Given the description of an element on the screen output the (x, y) to click on. 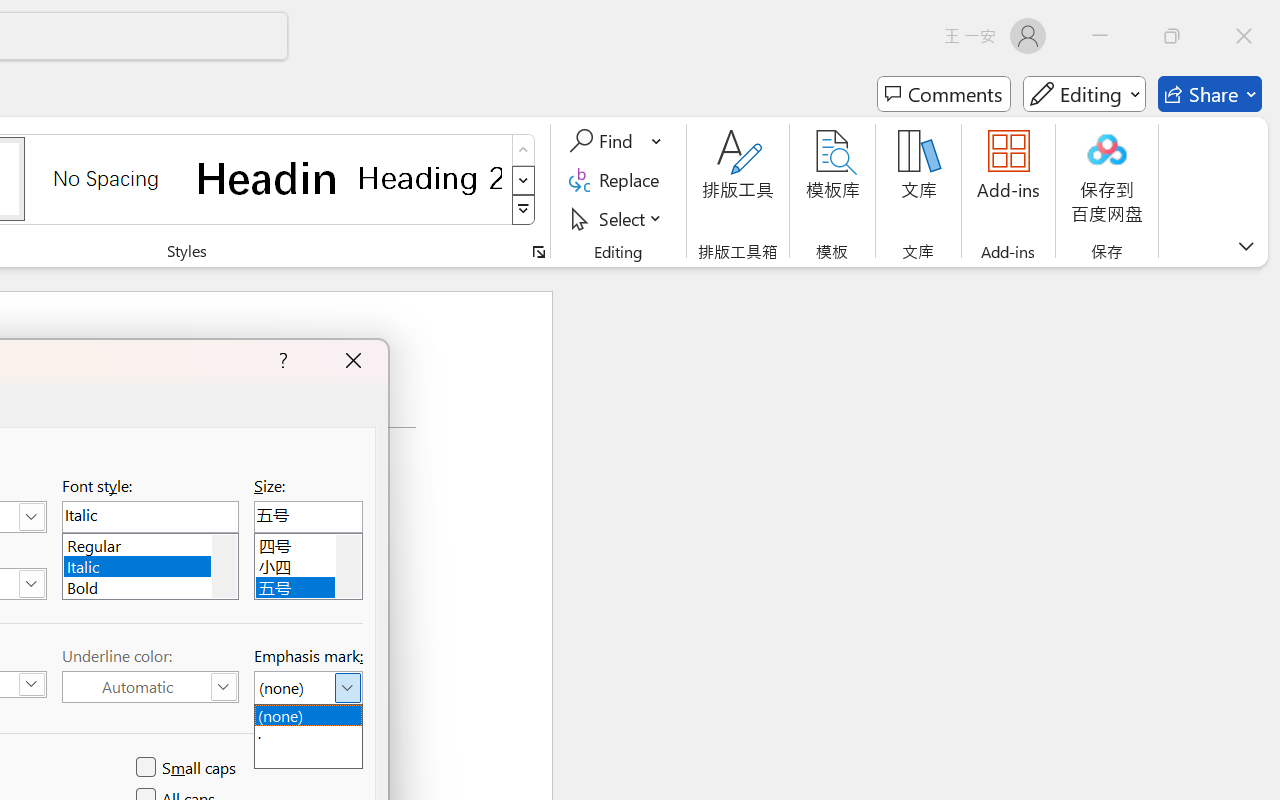
Styles... (538, 252)
AutomationID: 1795 (223, 566)
Bold (150, 585)
Row up (523, 150)
Emphasis mark: (308, 687)
Small caps (187, 767)
Styles (523, 209)
Heading 2 (429, 178)
(none) (308, 714)
